Given the description of an element on the screen output the (x, y) to click on. 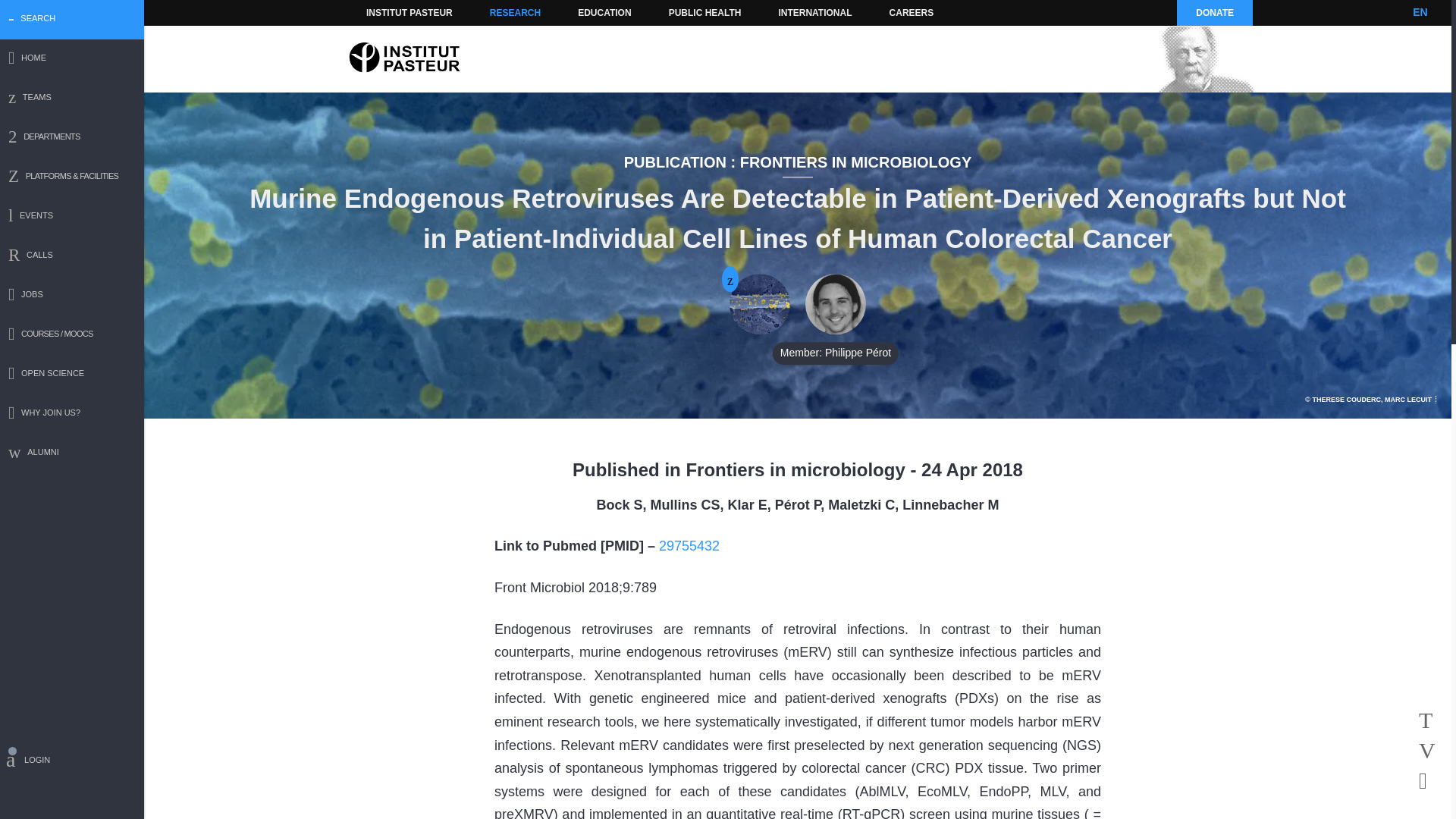
INTERNATIONAL (814, 12)
RESEARCH (515, 12)
EDUCATION (603, 12)
INSTITUT PASTEUR (409, 12)
ALUMNI (72, 454)
Skip to content (387, 11)
CALLS (72, 256)
CAREERS (911, 12)
WHY JOIN US? (72, 413)
PUBLIC HEALTH (705, 12)
